Given the description of an element on the screen output the (x, y) to click on. 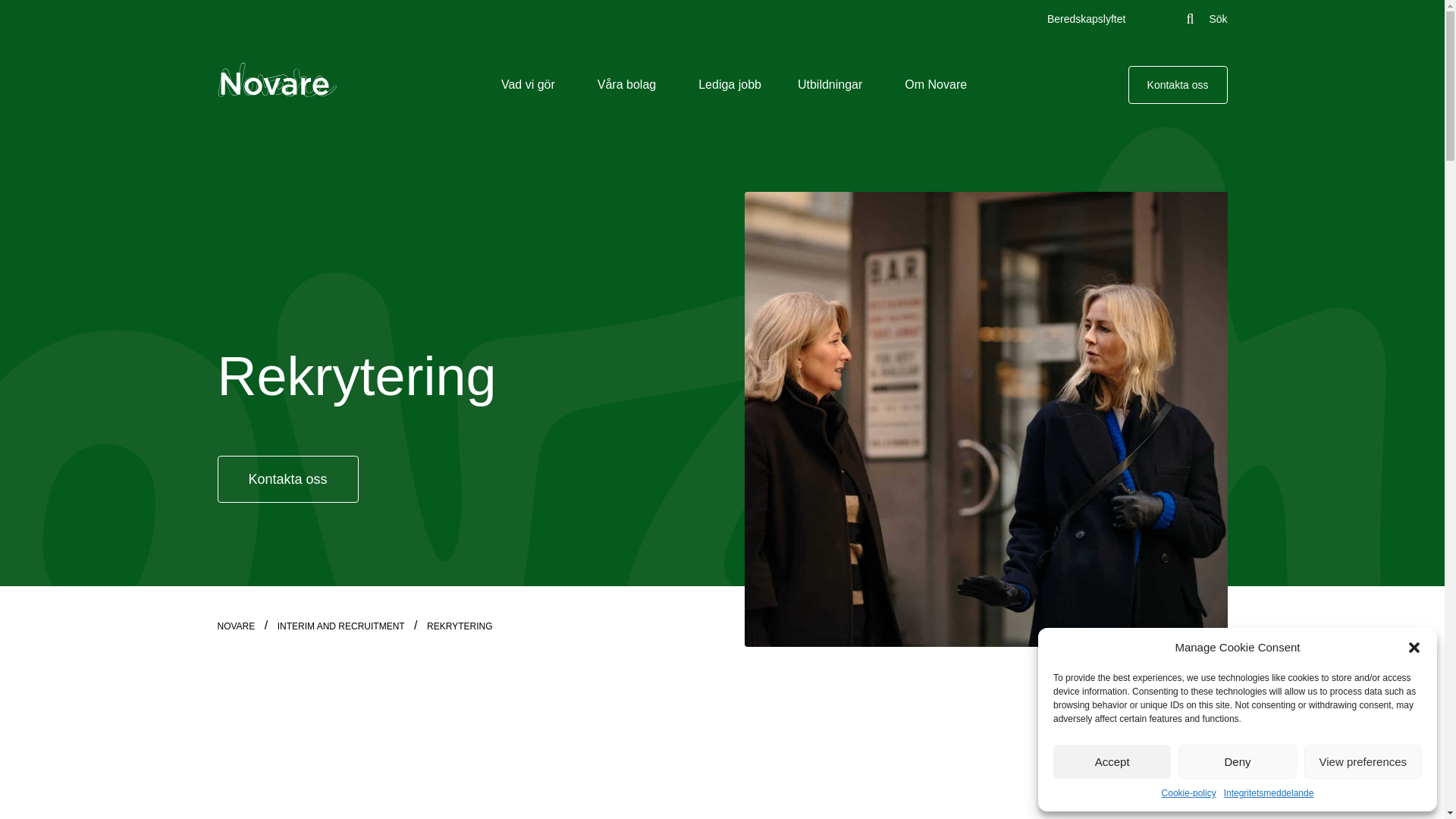
Integritetsmeddelande (1269, 793)
View preferences (1363, 761)
Accept (1111, 761)
Lediga jobb (729, 83)
Deny (1236, 761)
Cookie-policy (1188, 793)
Beredskapslyftet (1085, 19)
